Given the description of an element on the screen output the (x, y) to click on. 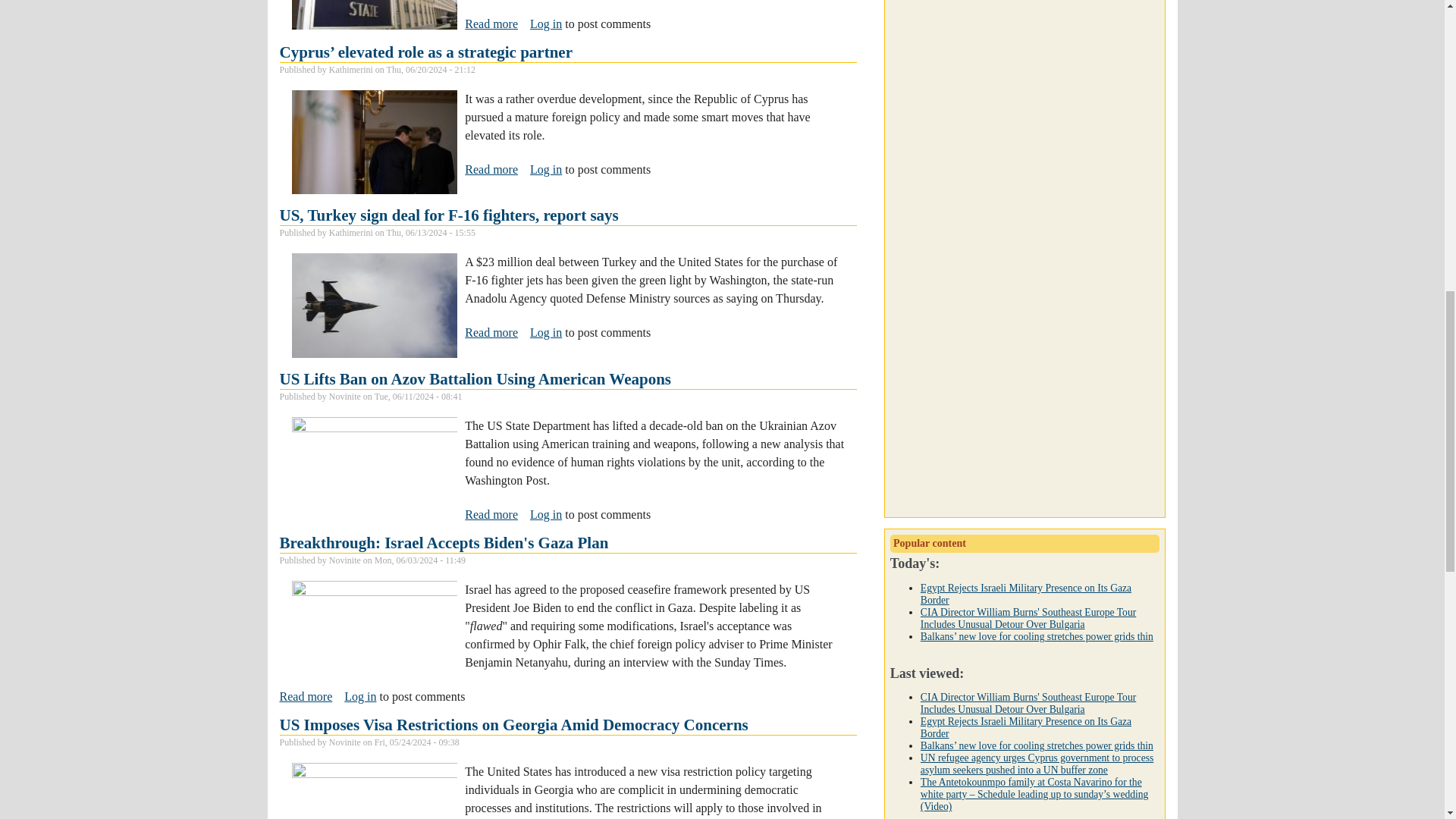
Log in (545, 332)
US Lifts Ban on Azov Battalion Using American Weapons (475, 379)
US, Turkey sign deal for F-16 fighters, report says (448, 215)
Log in (545, 23)
Log in (545, 169)
